Given the description of an element on the screen output the (x, y) to click on. 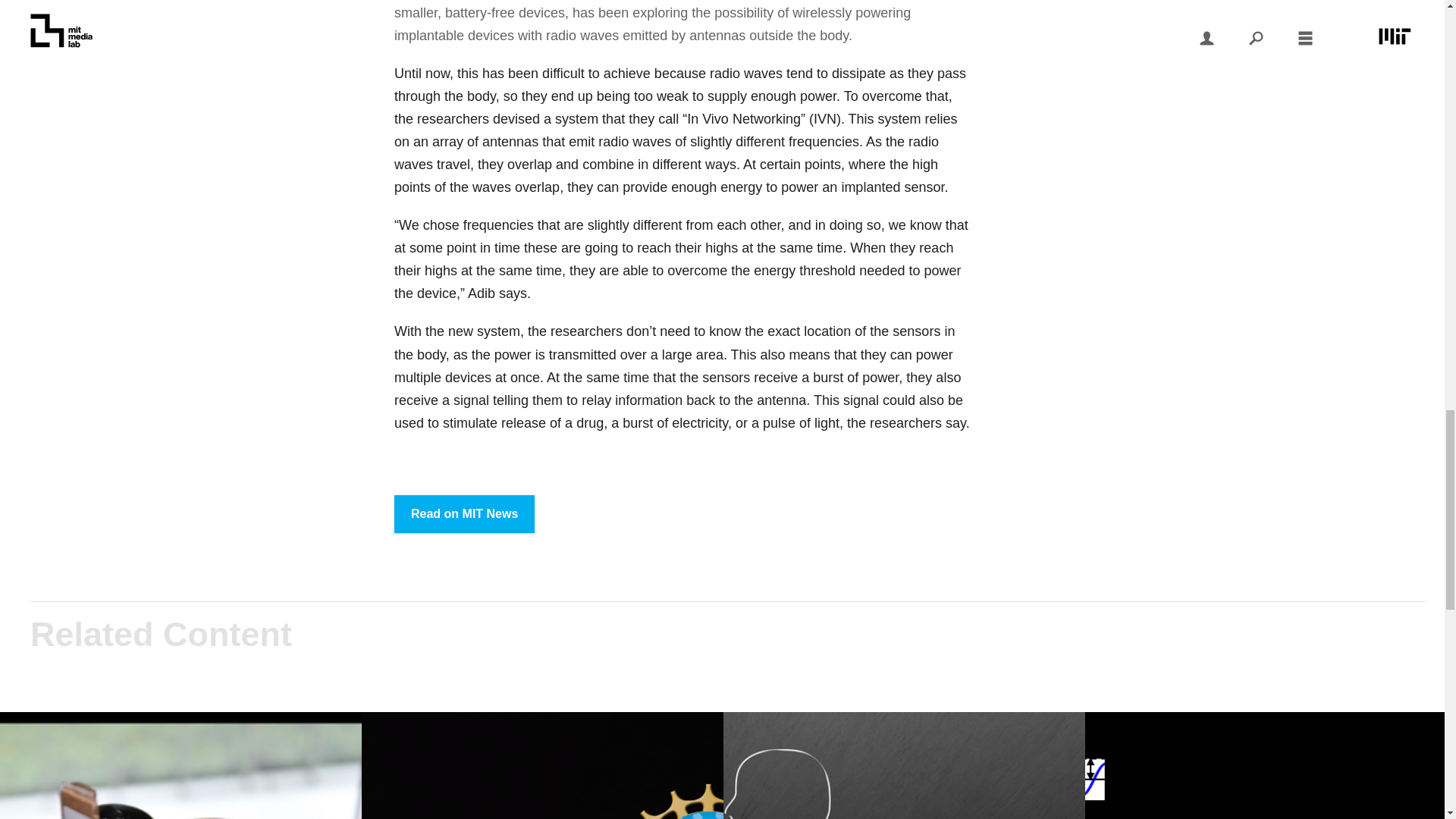
Read on MIT News (464, 514)
